Given the description of an element on the screen output the (x, y) to click on. 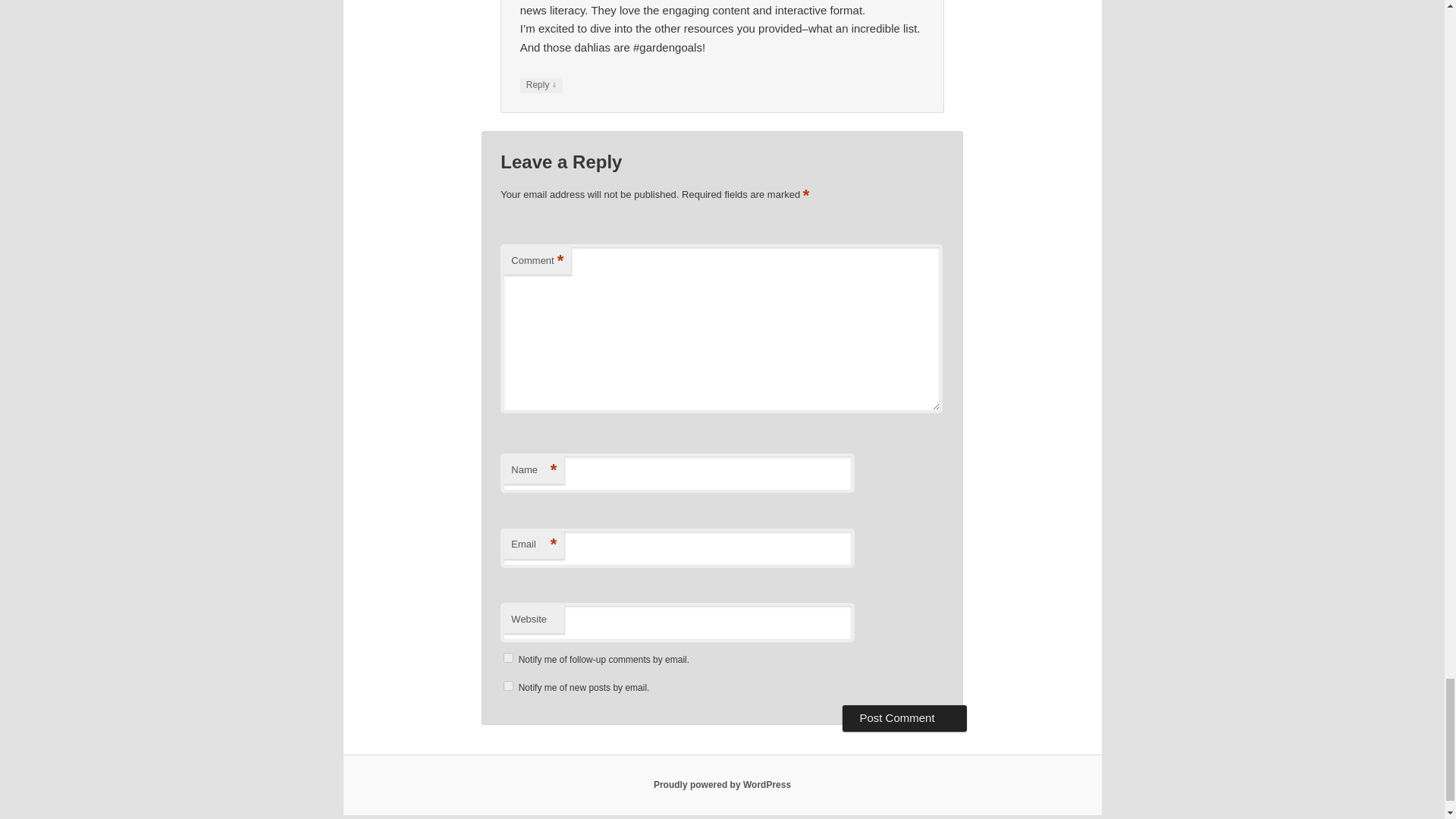
subscribe (508, 685)
Semantic Personal Publishing Platform (721, 784)
Post Comment (904, 718)
subscribe (508, 657)
